Given the description of an element on the screen output the (x, y) to click on. 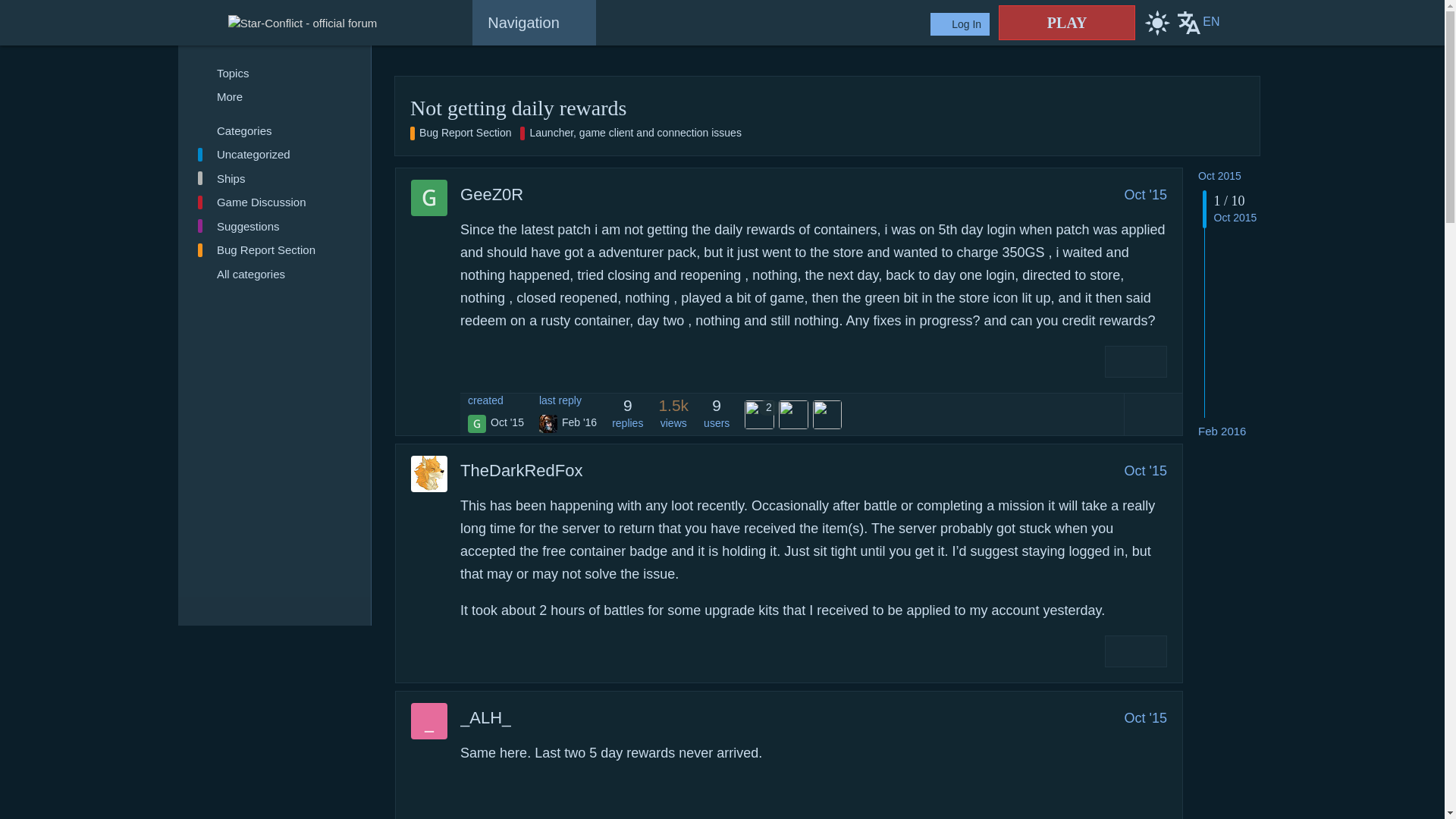
Toggle section (274, 130)
last reply (567, 399)
Oct 2015 (1219, 175)
Search (1242, 22)
Now you can submit your bug reports here: (635, 133)
Play (1066, 22)
All discussions about ships. (274, 178)
Post date (1145, 194)
Toggle color scheme (1156, 22)
